Given the description of an element on the screen output the (x, y) to click on. 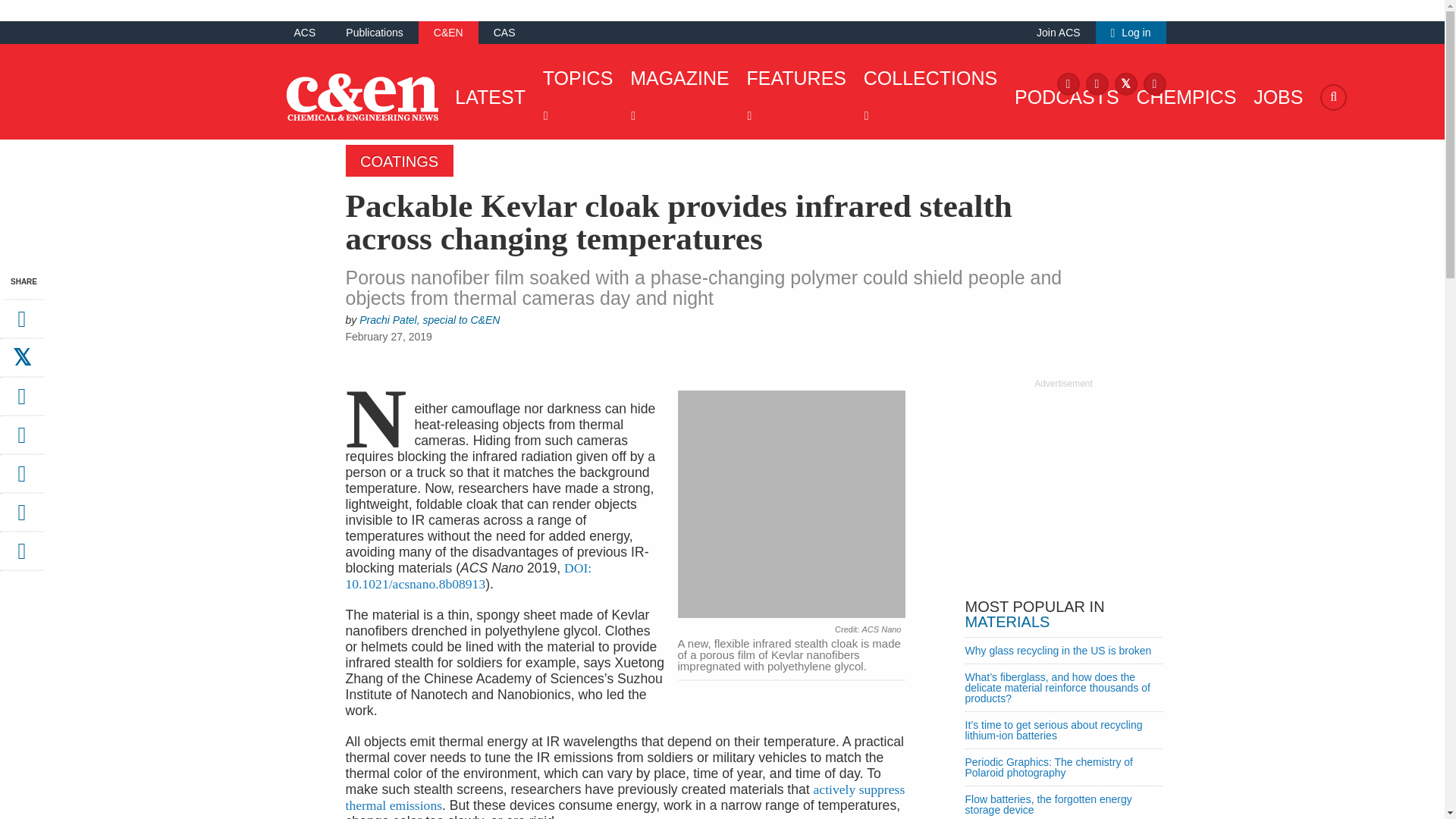
X (1126, 82)
ACS (304, 32)
Image shows a roll of white film (791, 505)
Publications (374, 32)
Graphene-based device enables active thermal camouflage (625, 797)
LinkedIn (1154, 82)
Log in (1130, 32)
Join ACS (1058, 32)
LATEST (485, 96)
